Given the description of an element on the screen output the (x, y) to click on. 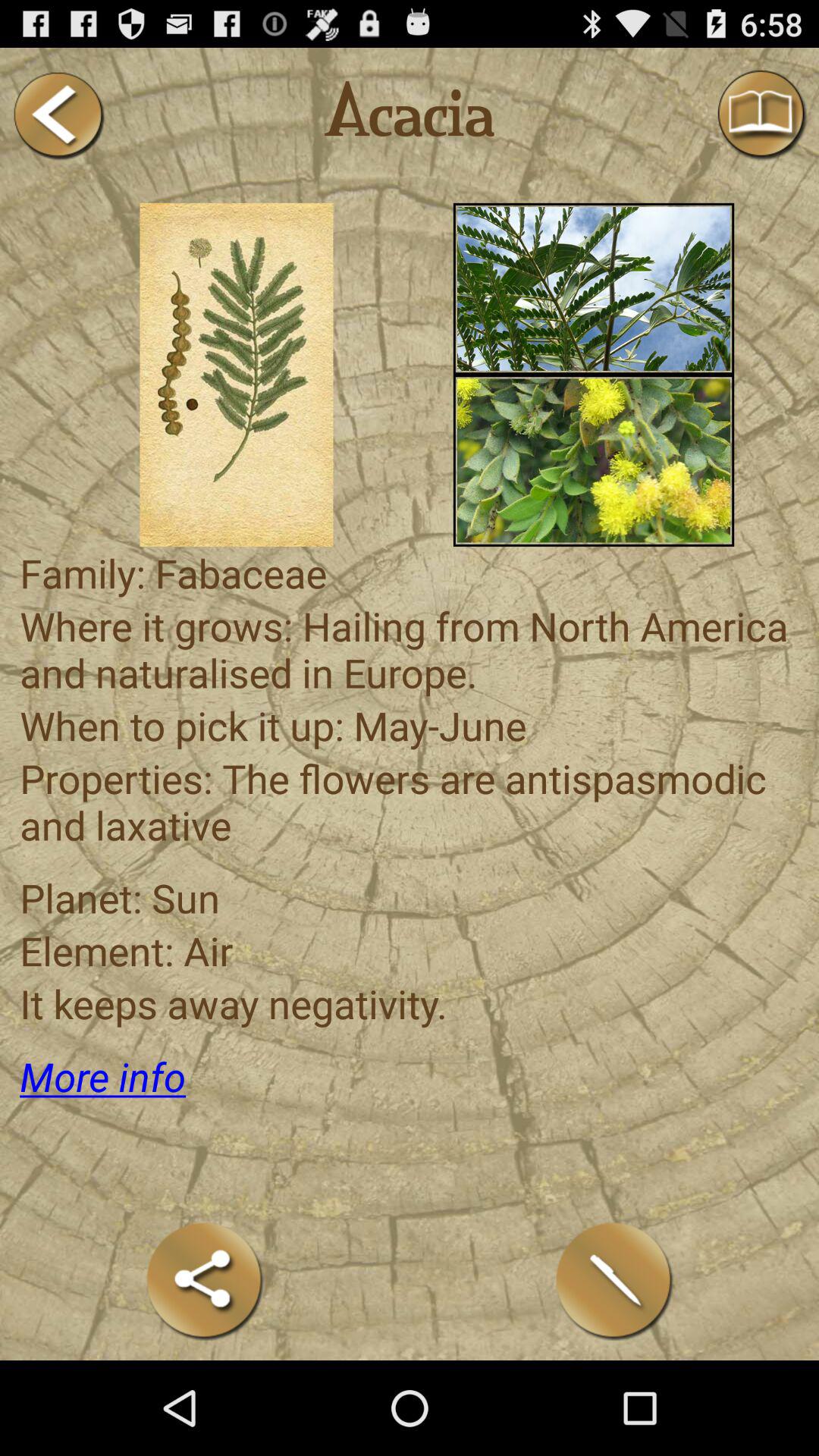
share this page (204, 1280)
